Given the description of an element on the screen output the (x, y) to click on. 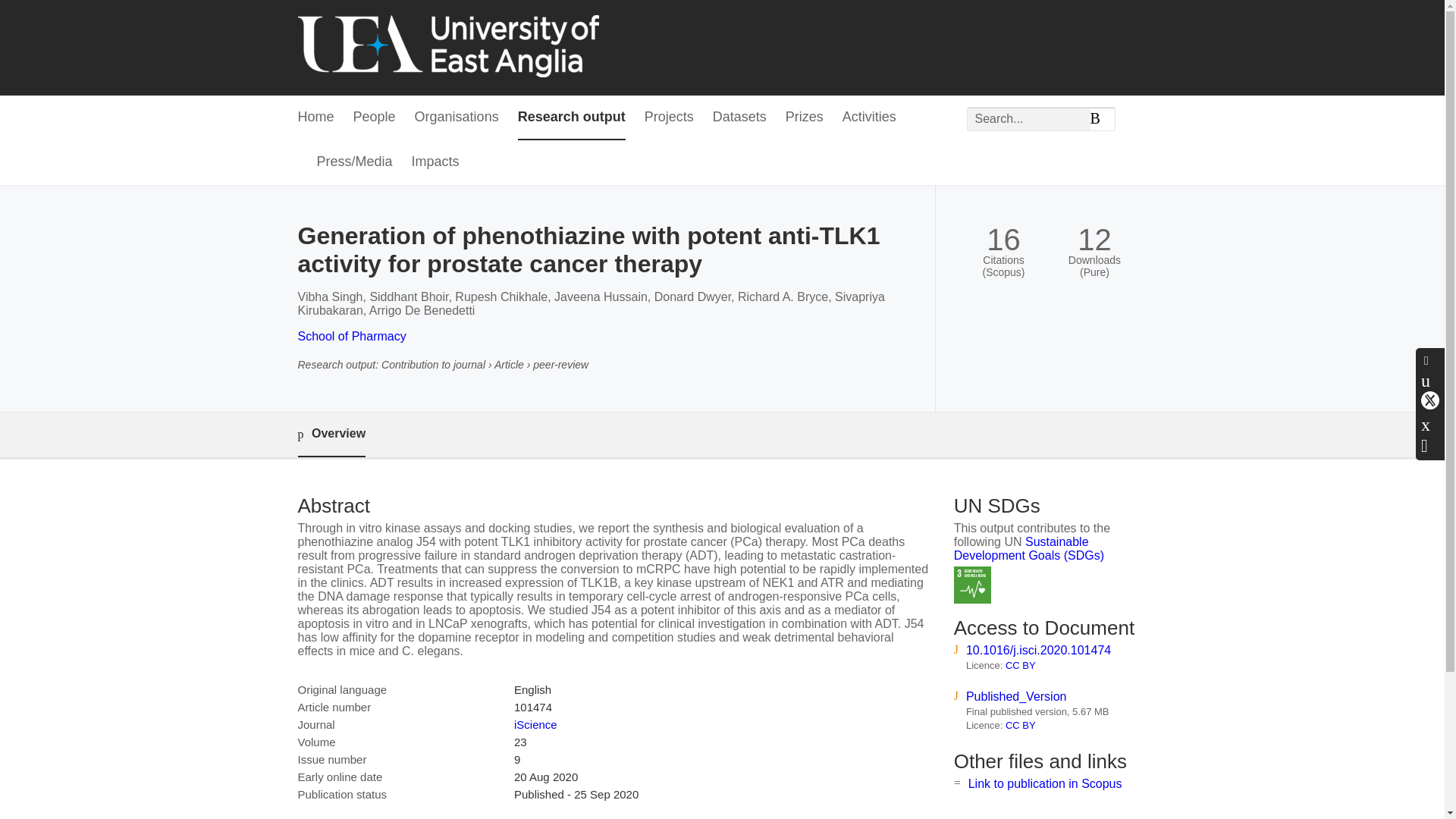
CC BY (1020, 665)
Prizes (805, 117)
Activities (869, 117)
Projects (669, 117)
iScience (535, 724)
Impacts (436, 162)
People (374, 117)
Datasets (740, 117)
CC BY (1020, 725)
Research output (572, 117)
University of East Anglia Home (447, 47)
Organisations (456, 117)
School of Pharmacy (351, 336)
SDG 3 - Good Health and Well-being (972, 584)
